Given the description of an element on the screen output the (x, y) to click on. 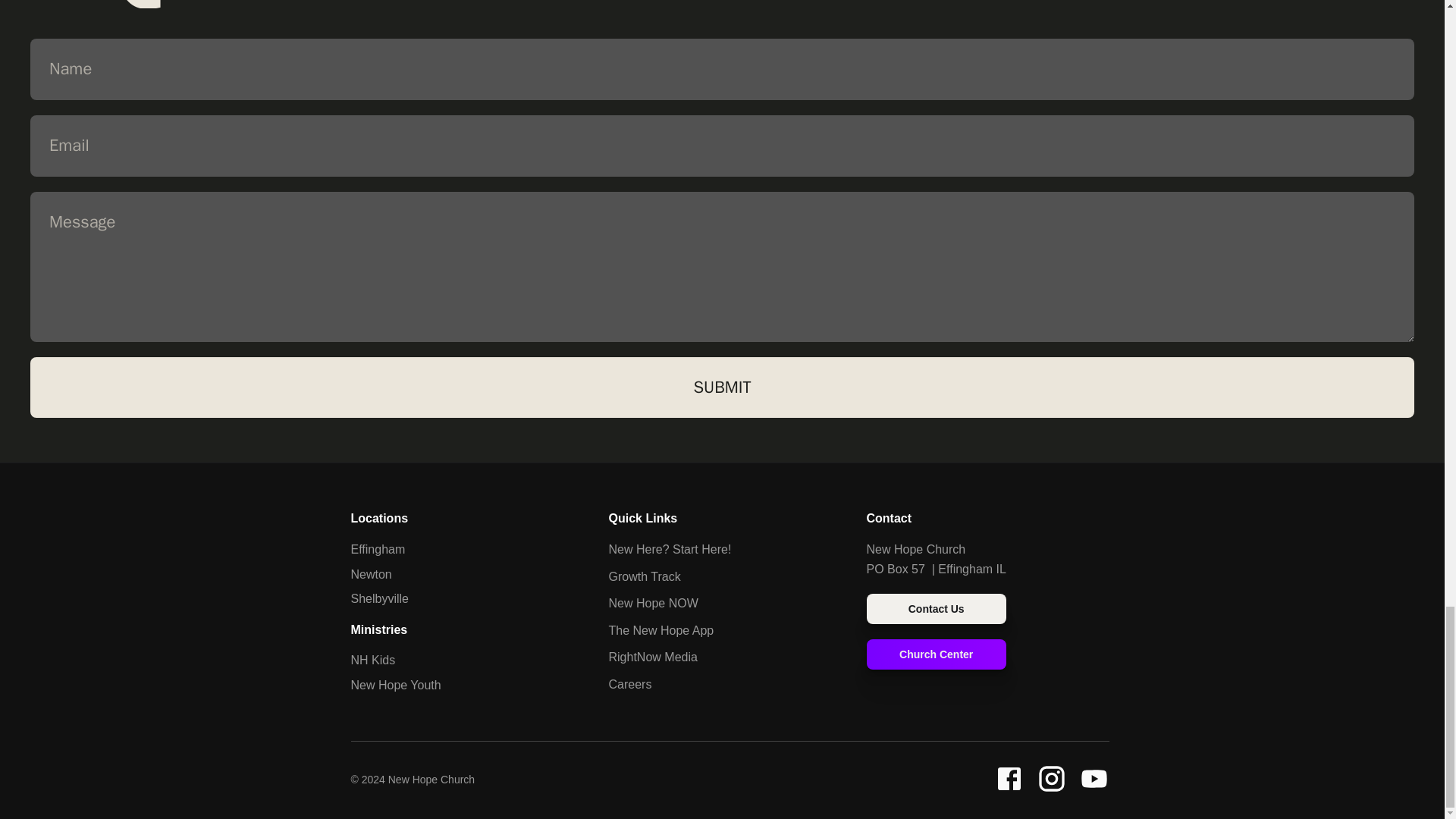
New Hope Youth (395, 684)
New Here? Start Here! (669, 549)
NH Kids (372, 659)
The New Hope App (660, 630)
Newton (370, 574)
Careers (629, 684)
Church Center (936, 654)
SUBMIT (721, 387)
Growth Track (643, 576)
